Given the description of an element on the screen output the (x, y) to click on. 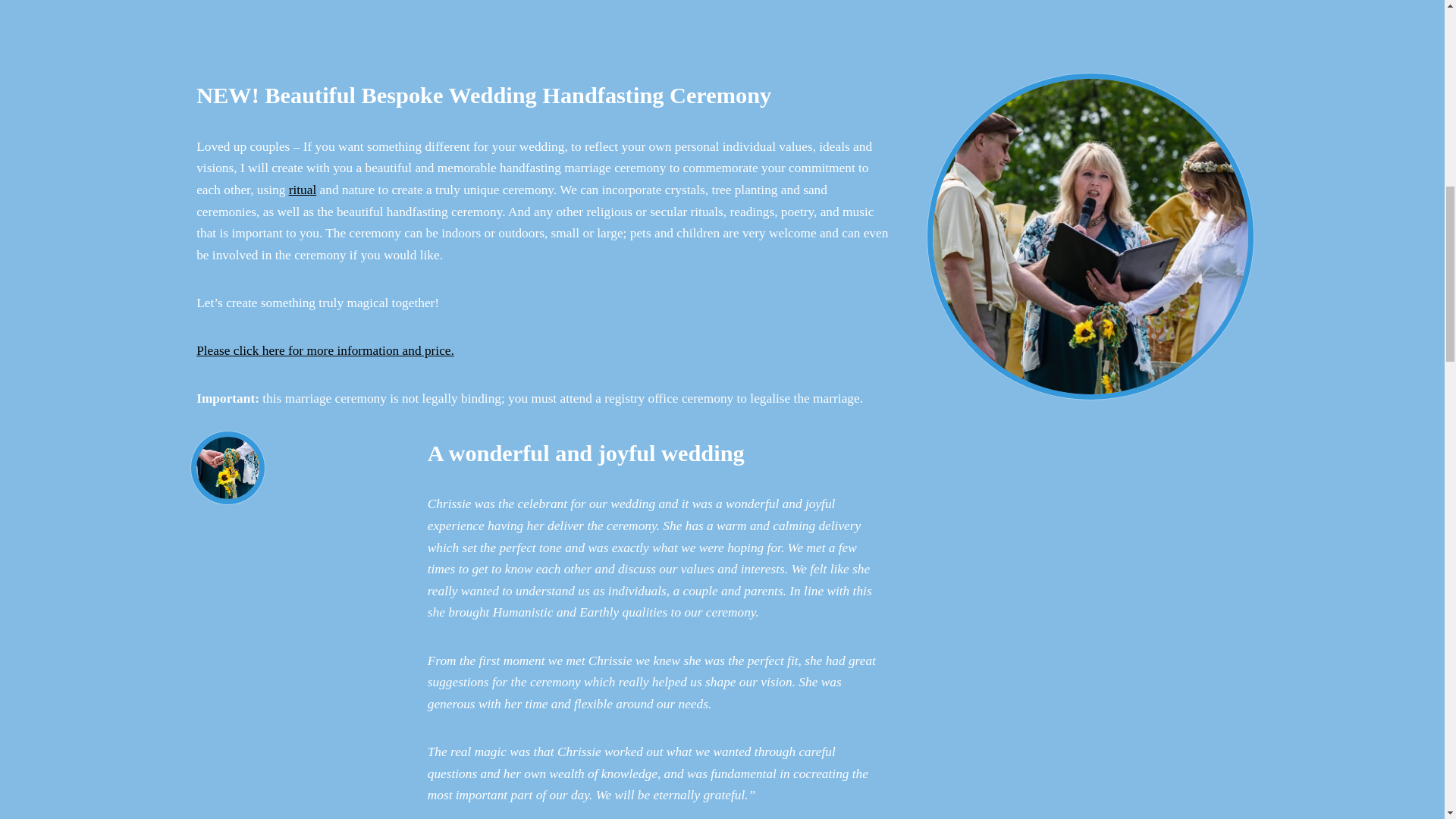
Please click here for more information and price. (325, 350)
ritual (302, 189)
